Given the description of an element on the screen output the (x, y) to click on. 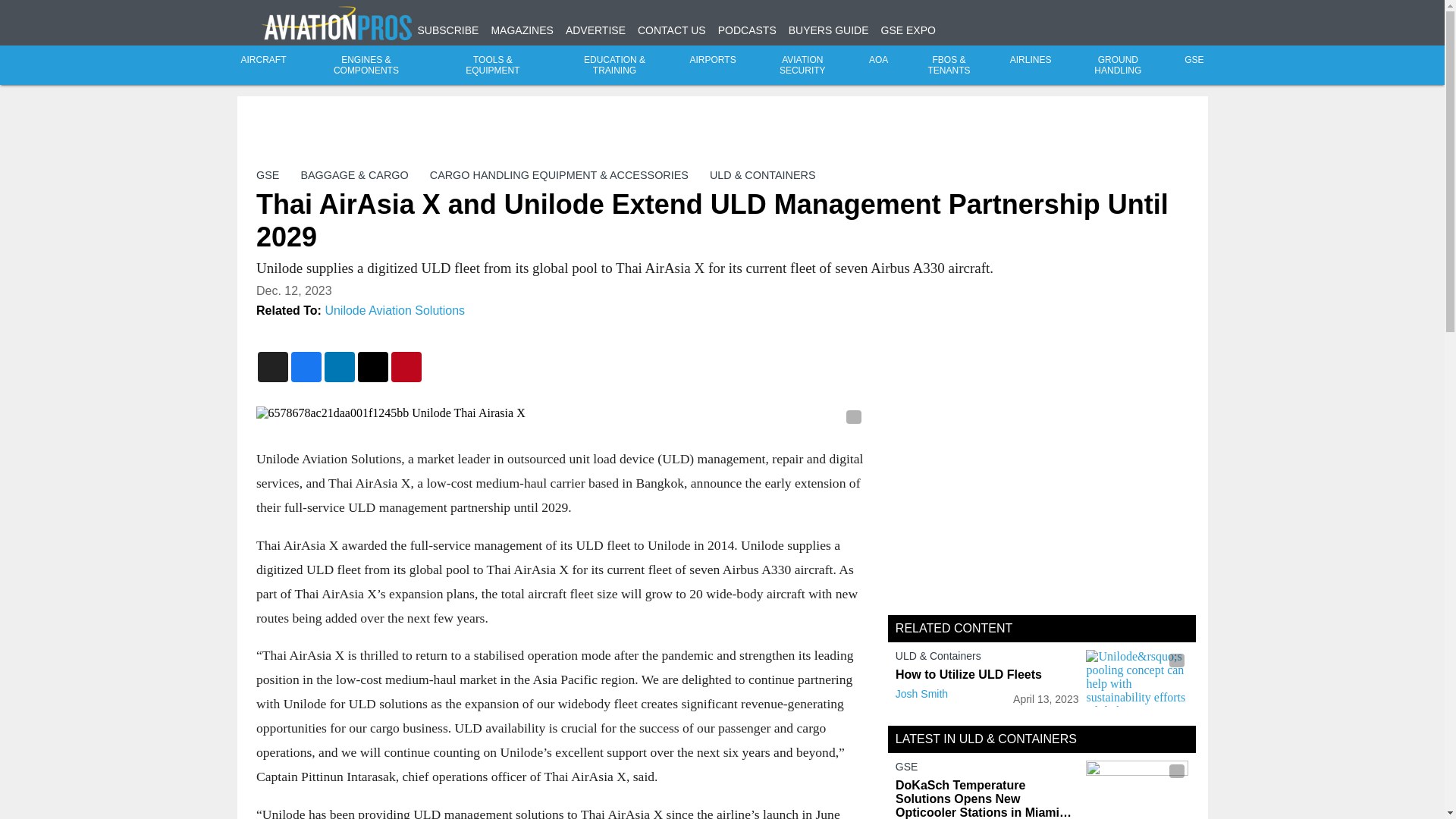
AVIATION SECURITY (801, 65)
PODCASTS (746, 30)
Josh Smith (921, 693)
AOA (878, 59)
ADVERTISE (596, 30)
MAGAZINES (521, 30)
6578678ac21daa001f1245bb Unilode Thai Airasia X (560, 413)
Unilode Aviation Solutions (394, 309)
GSE (267, 174)
GSE EXPO (908, 30)
AIRCRAFT (263, 59)
SUBSCRIBE (447, 30)
BUYERS GUIDE (829, 30)
How to Utilize ULD Fleets (986, 674)
